Given the description of an element on the screen output the (x, y) to click on. 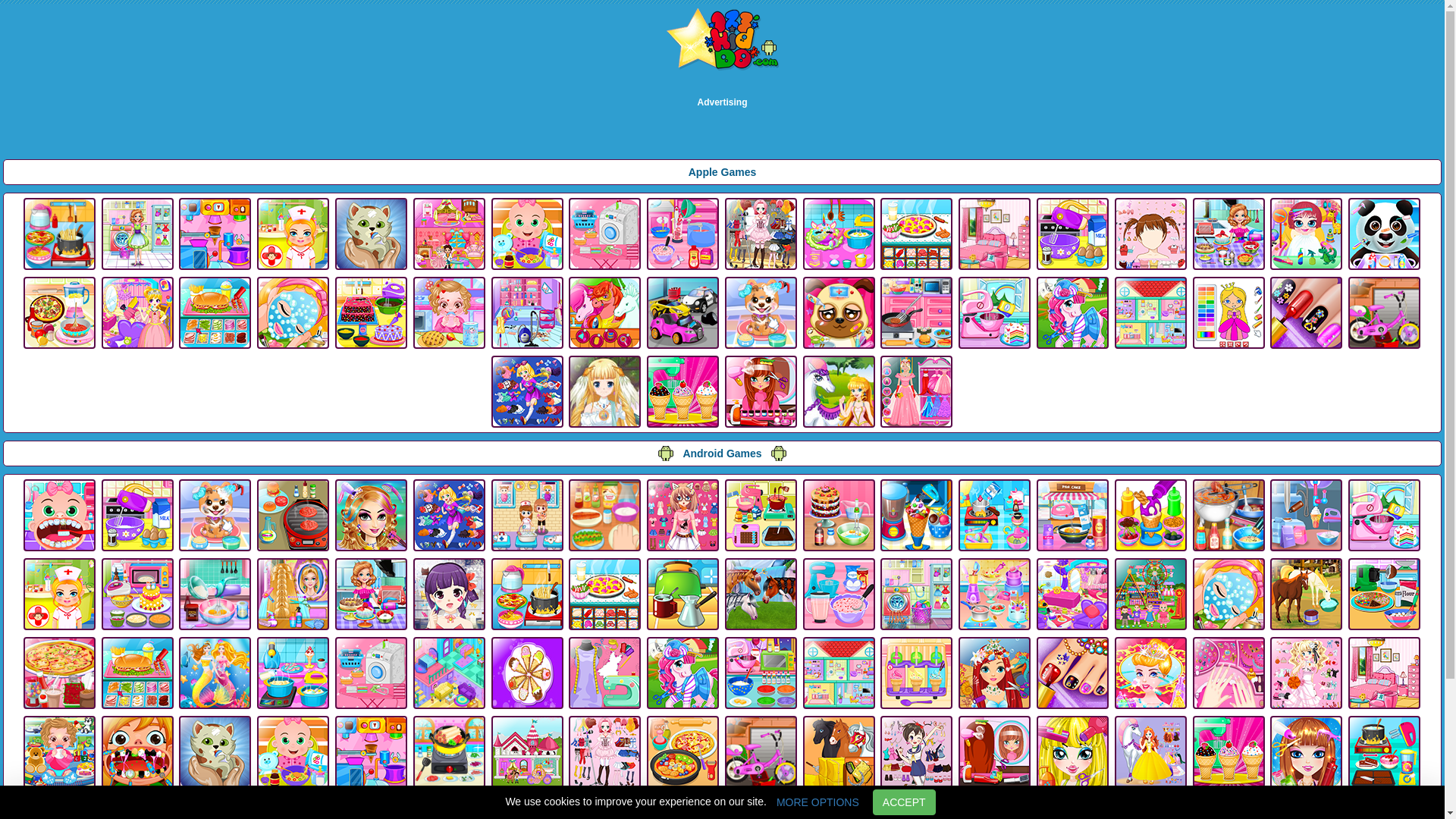
MORE OPTIONS Element type: text (817, 802)
ACCEPT Element type: text (903, 802)
